Given the description of an element on the screen output the (x, y) to click on. 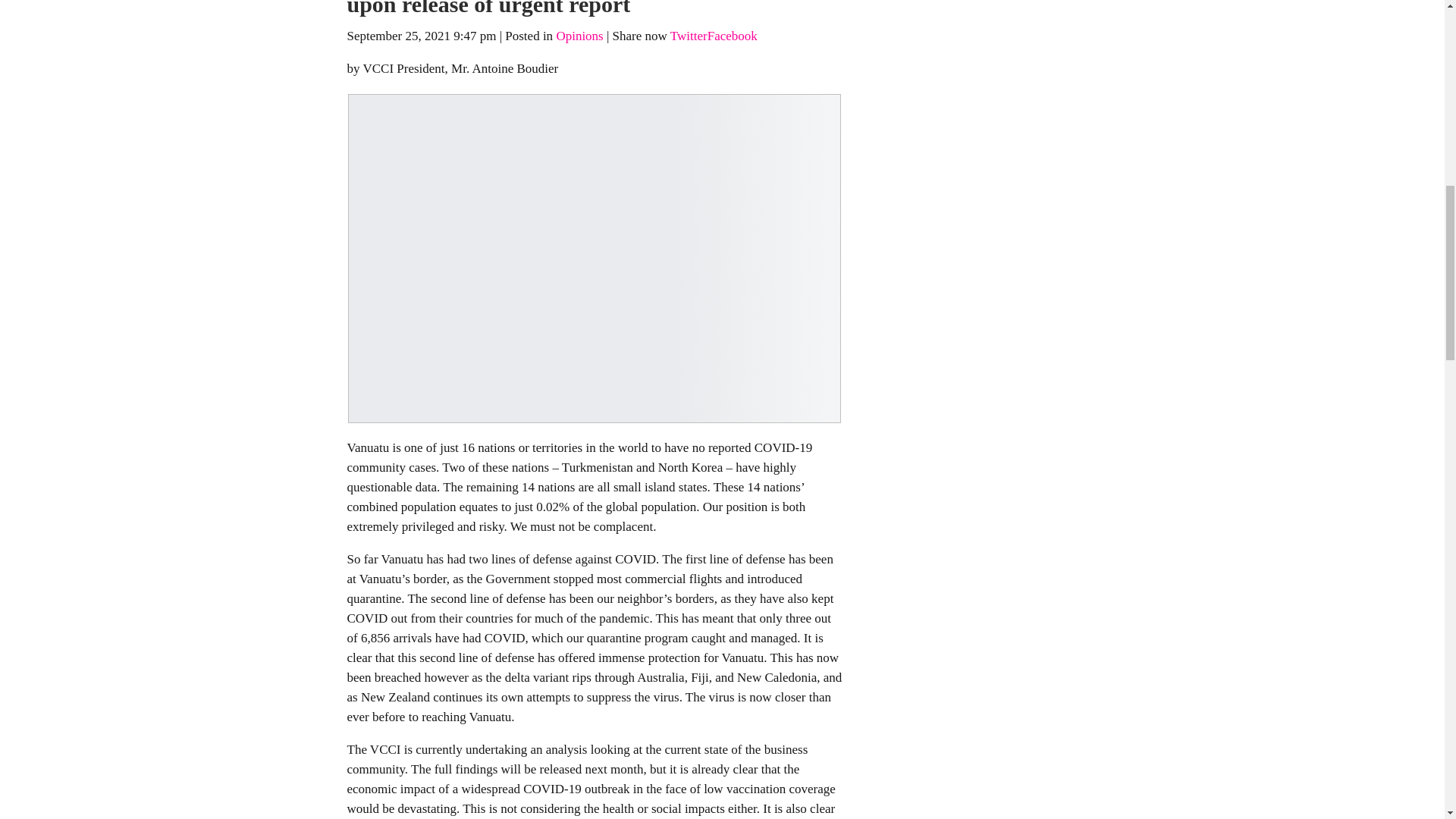
Share on Facebook (732, 35)
Tweet this (688, 35)
